Given the description of an element on the screen output the (x, y) to click on. 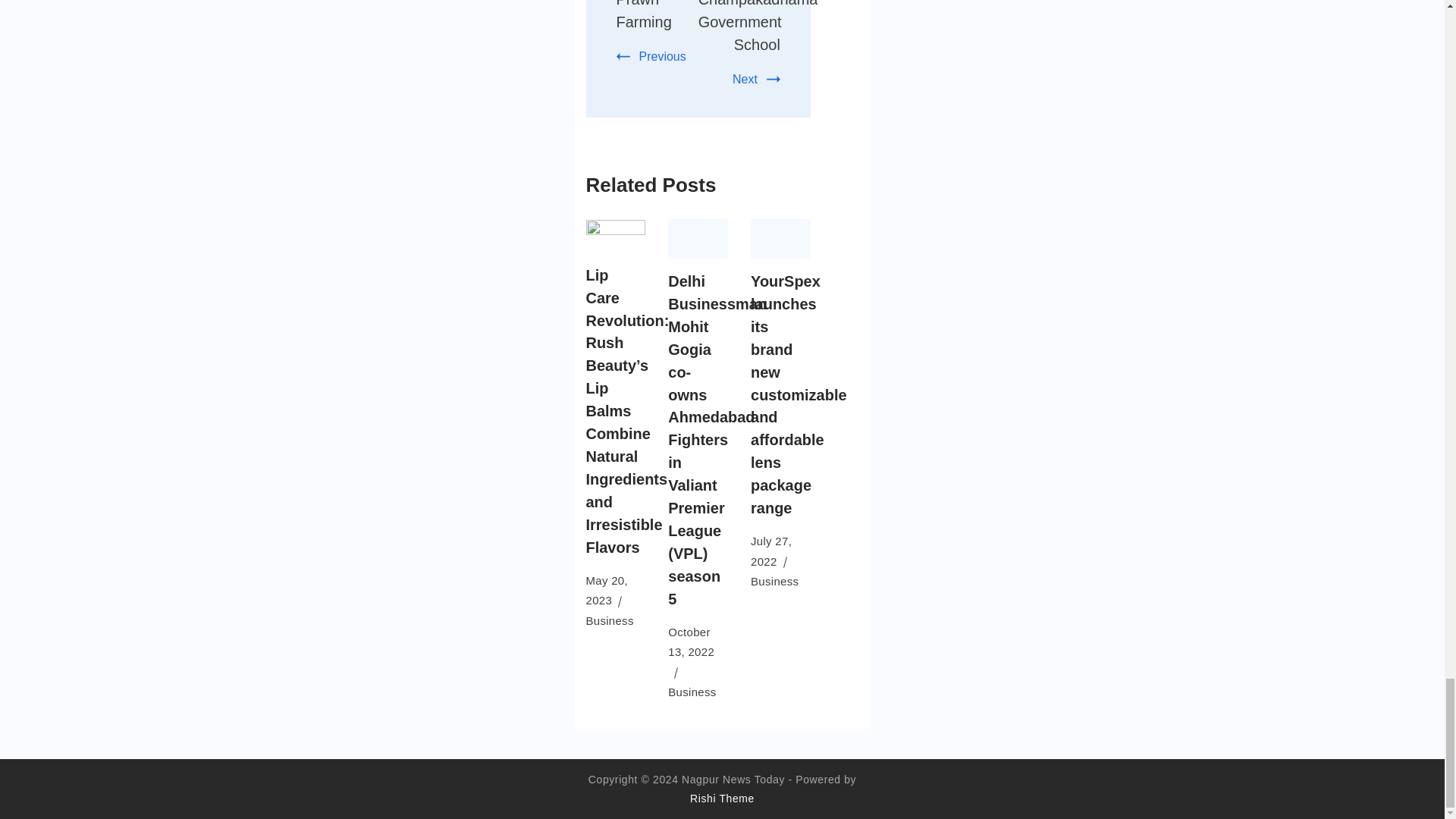
Next (756, 78)
Previous (650, 56)
